Given the description of an element on the screen output the (x, y) to click on. 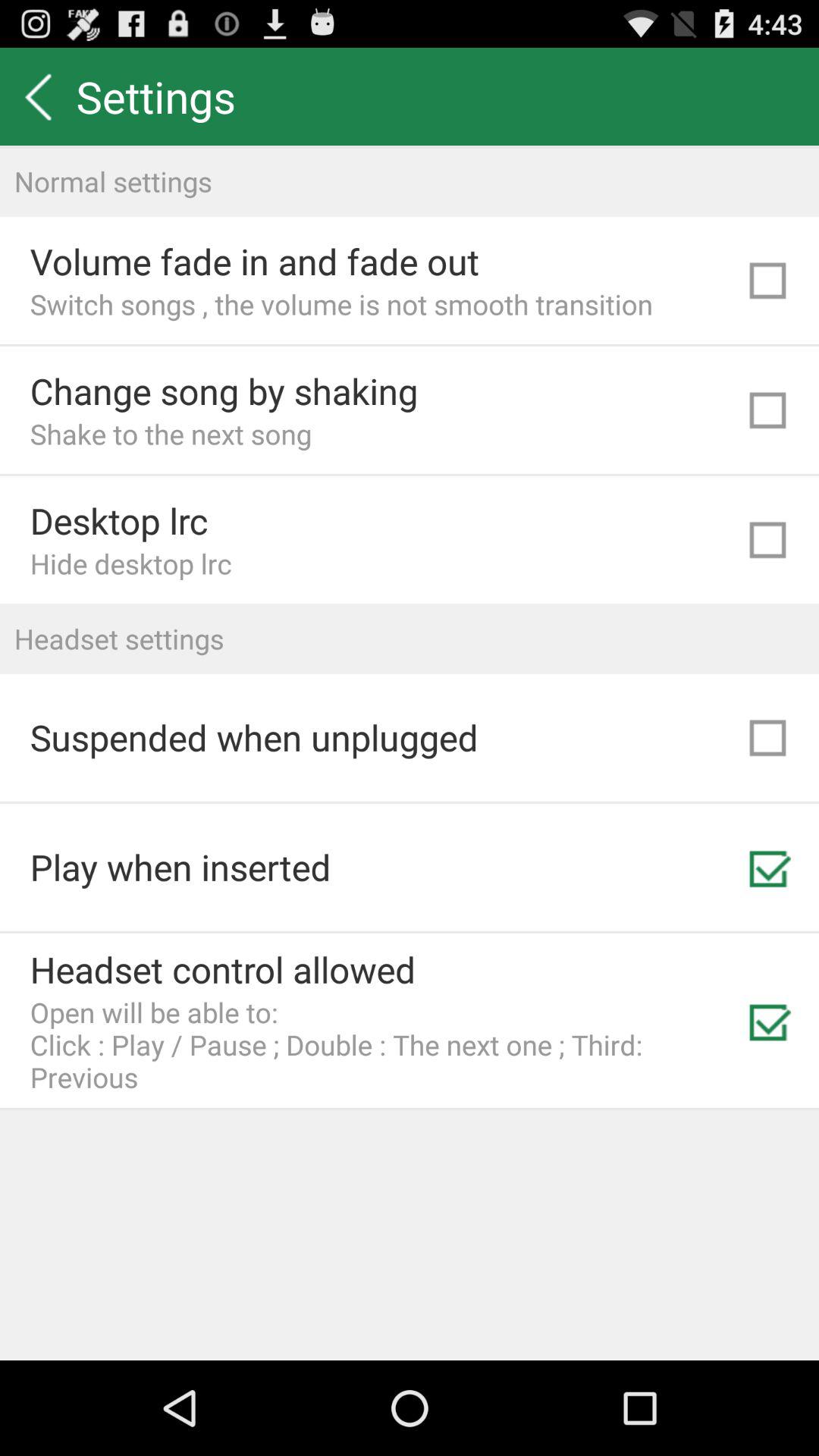
jump to headset settings item (409, 638)
